Given the description of an element on the screen output the (x, y) to click on. 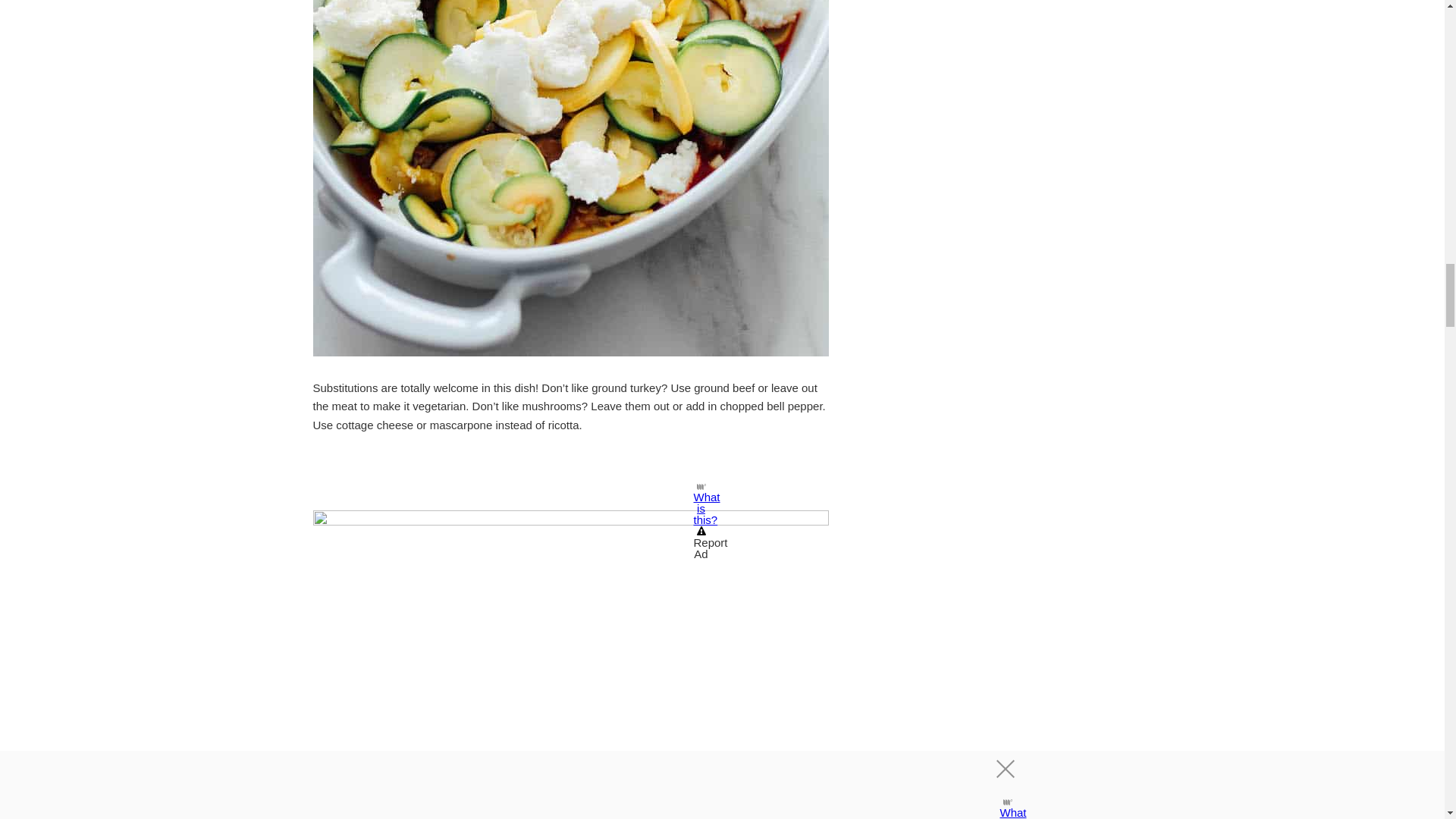
3rd party ad content (569, 476)
